Given the description of an element on the screen output the (x, y) to click on. 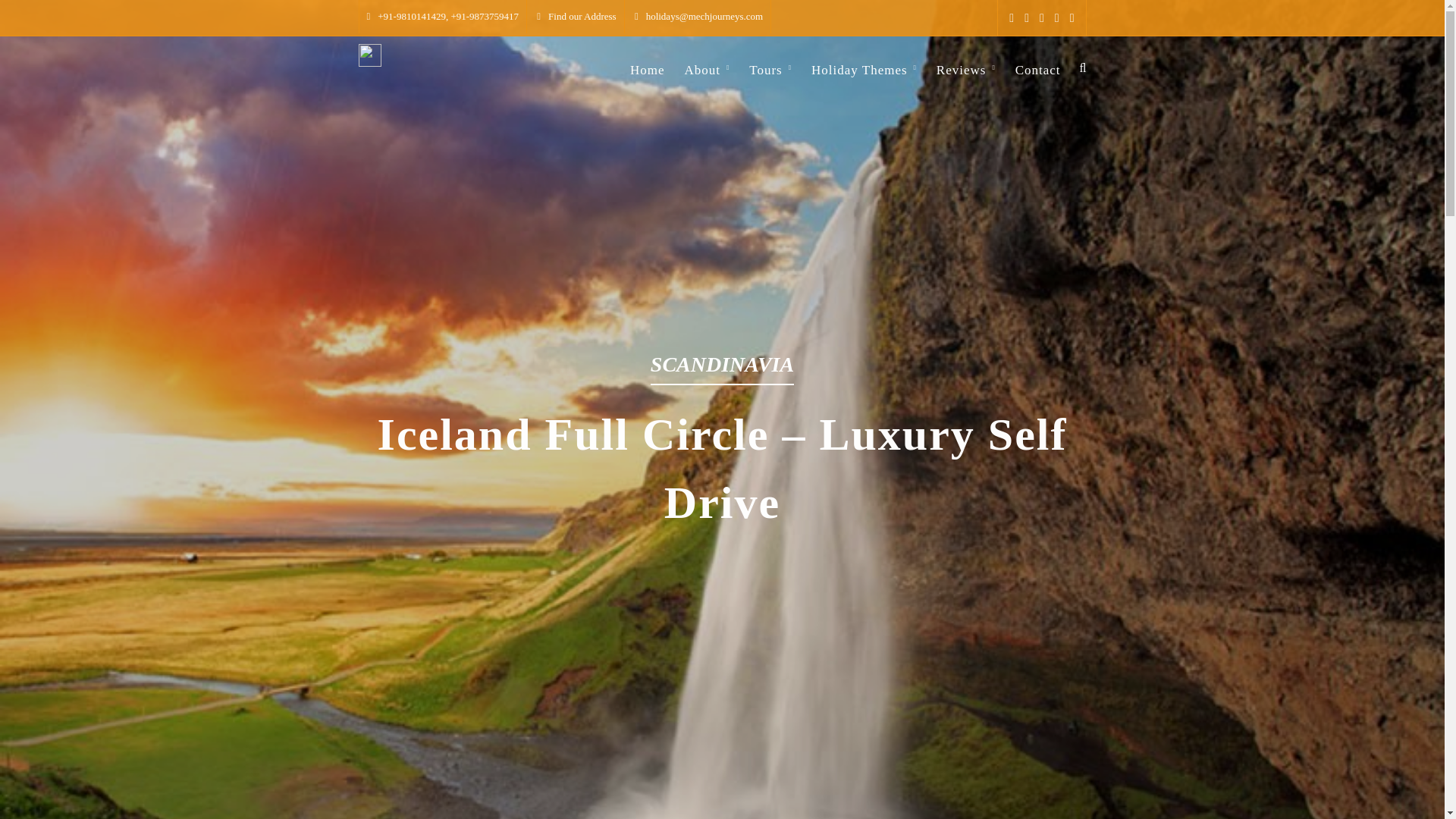
Linkedin (1072, 17)
Youtube (1041, 17)
